Given the description of an element on the screen output the (x, y) to click on. 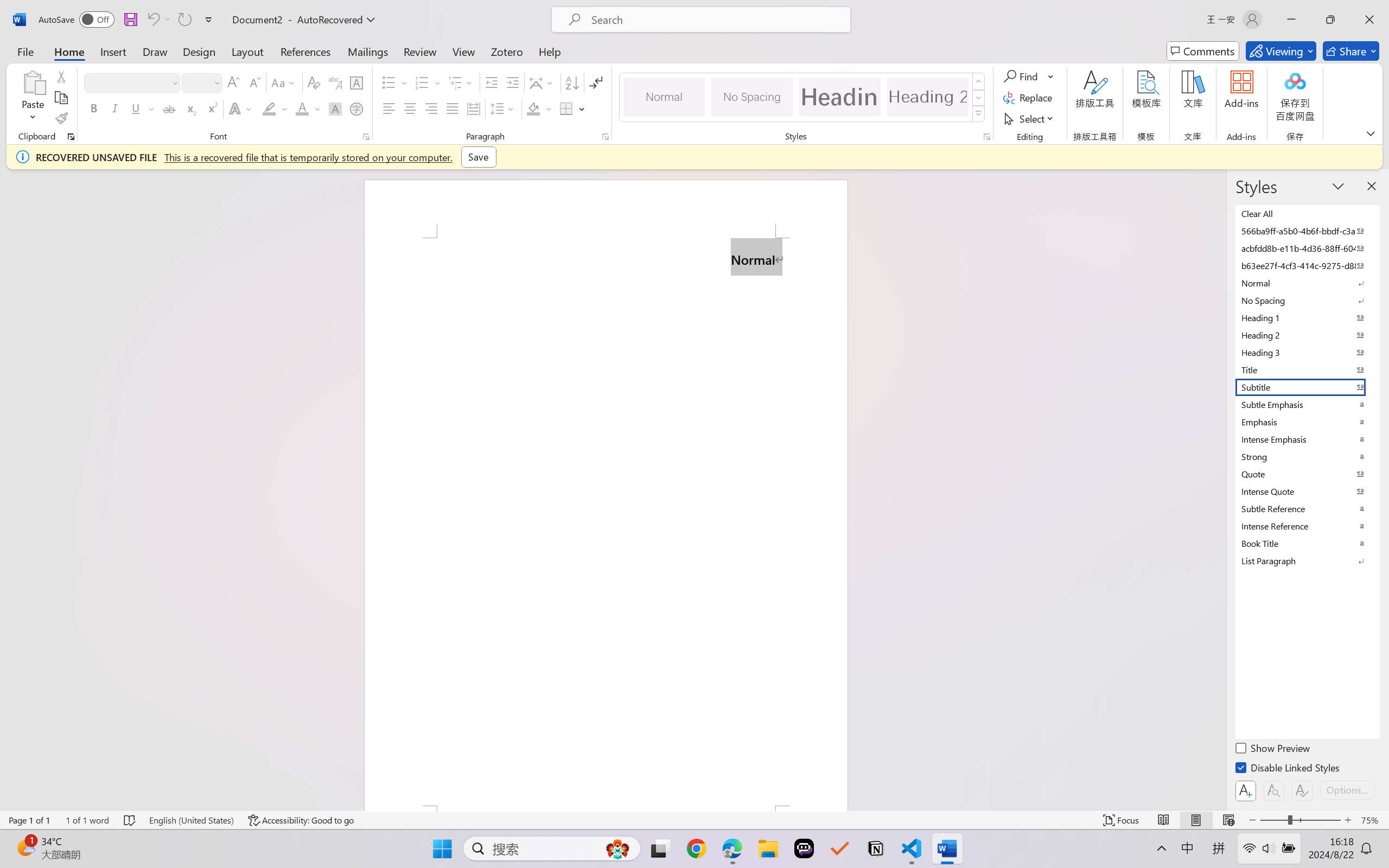
Page 1 content (605, 521)
Superscript (210, 108)
Replace... (1029, 97)
Class: NetUIButton (1301, 790)
Heading 3 (1306, 352)
Can't Repeat (184, 19)
Format Painter (60, 118)
Class: MsoCommandBar (694, 819)
Bold (94, 108)
Intense Reference (1306, 525)
